Given the description of an element on the screen output the (x, y) to click on. 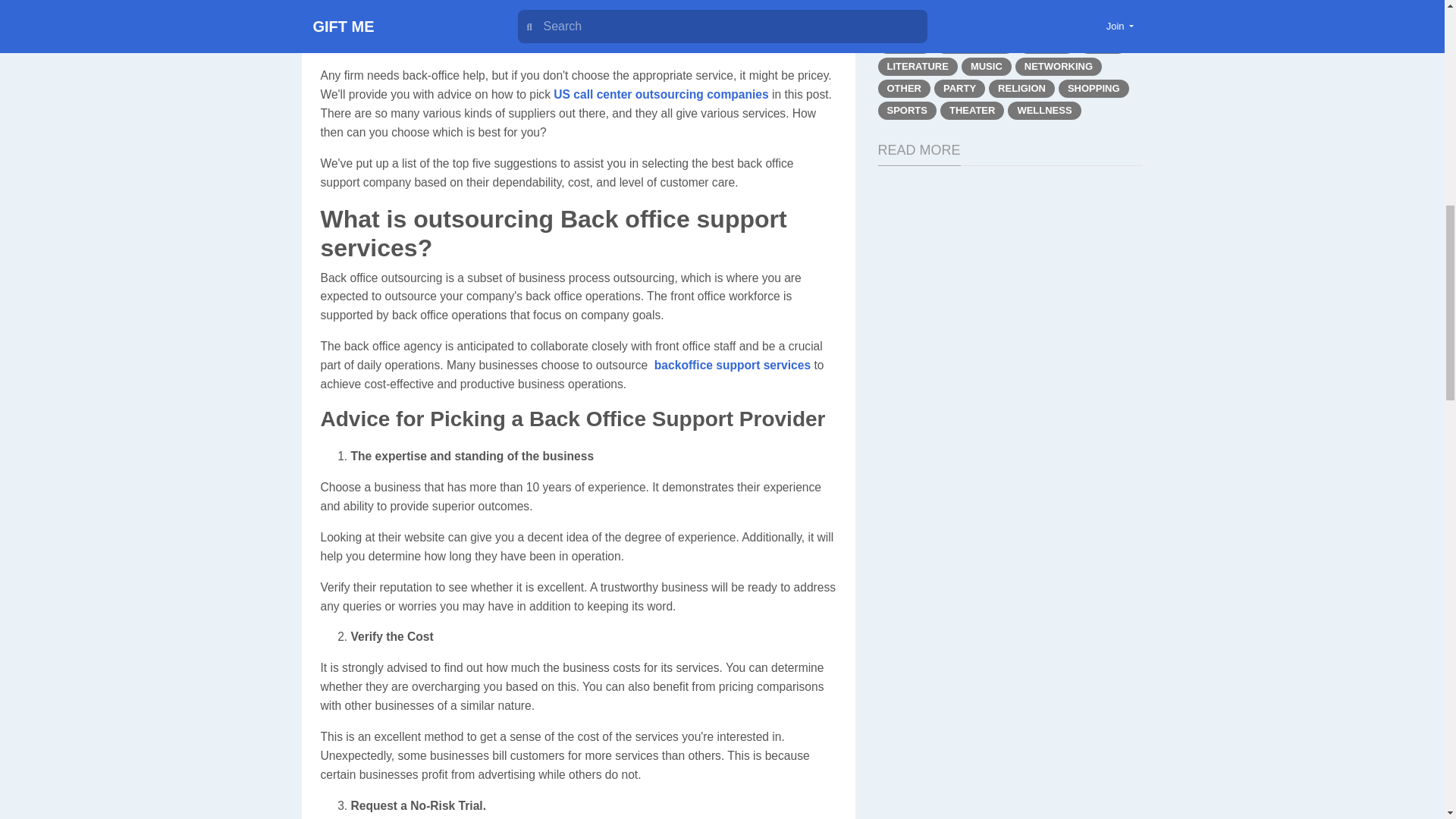
office support services (745, 364)
US call center outsourcing companies (660, 93)
back (667, 364)
